Given the description of an element on the screen output the (x, y) to click on. 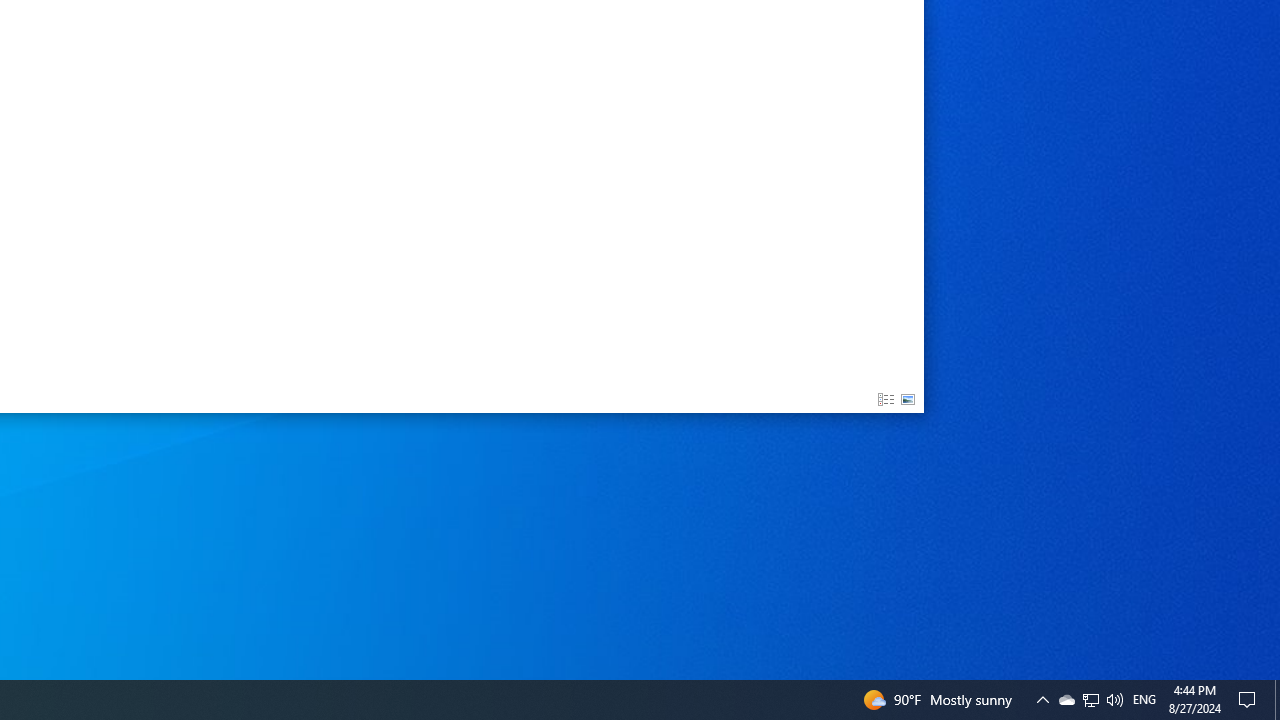
Tray Input Indicator - English (United States) (1144, 699)
